Given the description of an element on the screen output the (x, y) to click on. 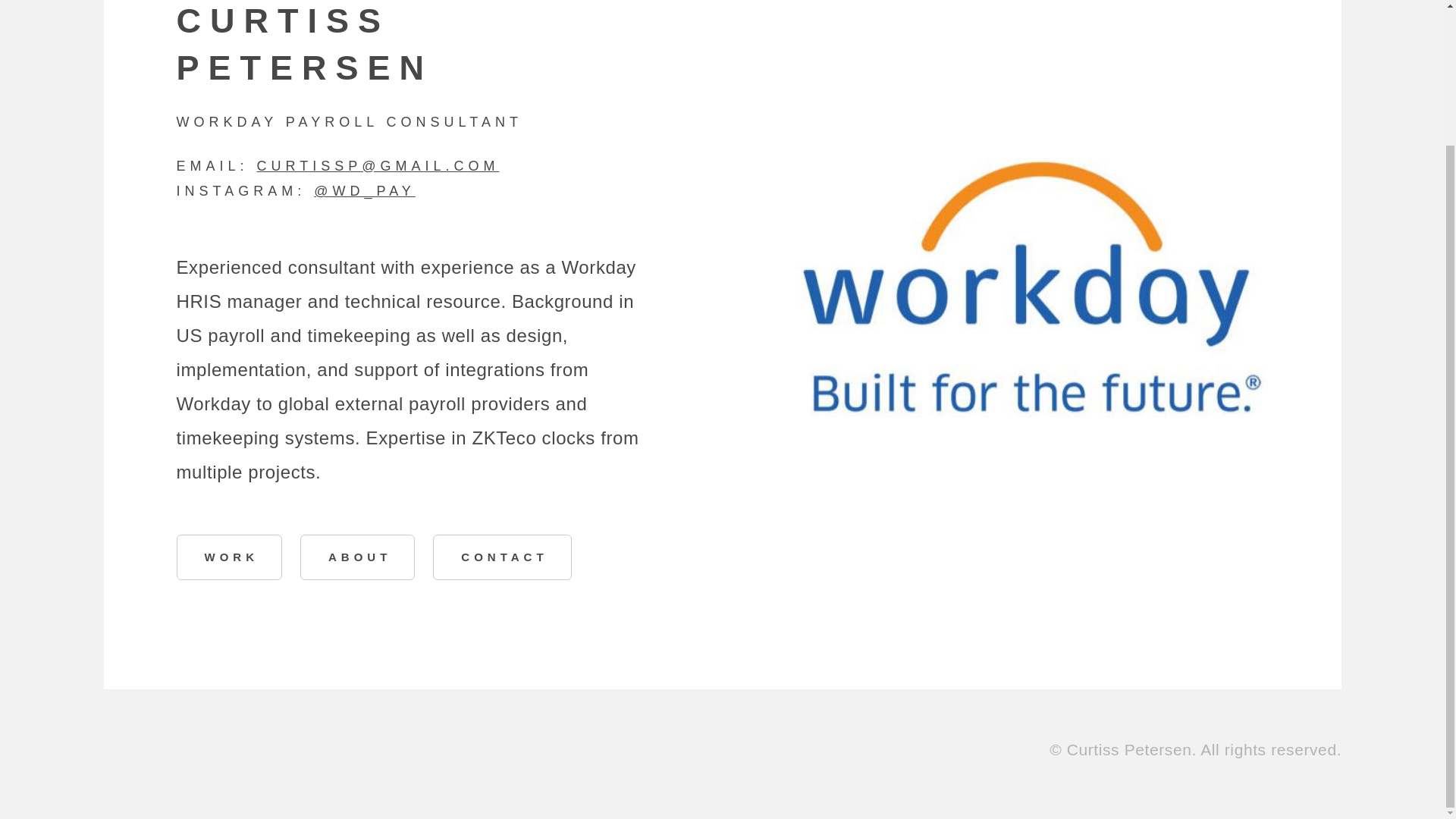
WORK (229, 556)
ABOUT (356, 556)
CONTACT (501, 556)
